Given the description of an element on the screen output the (x, y) to click on. 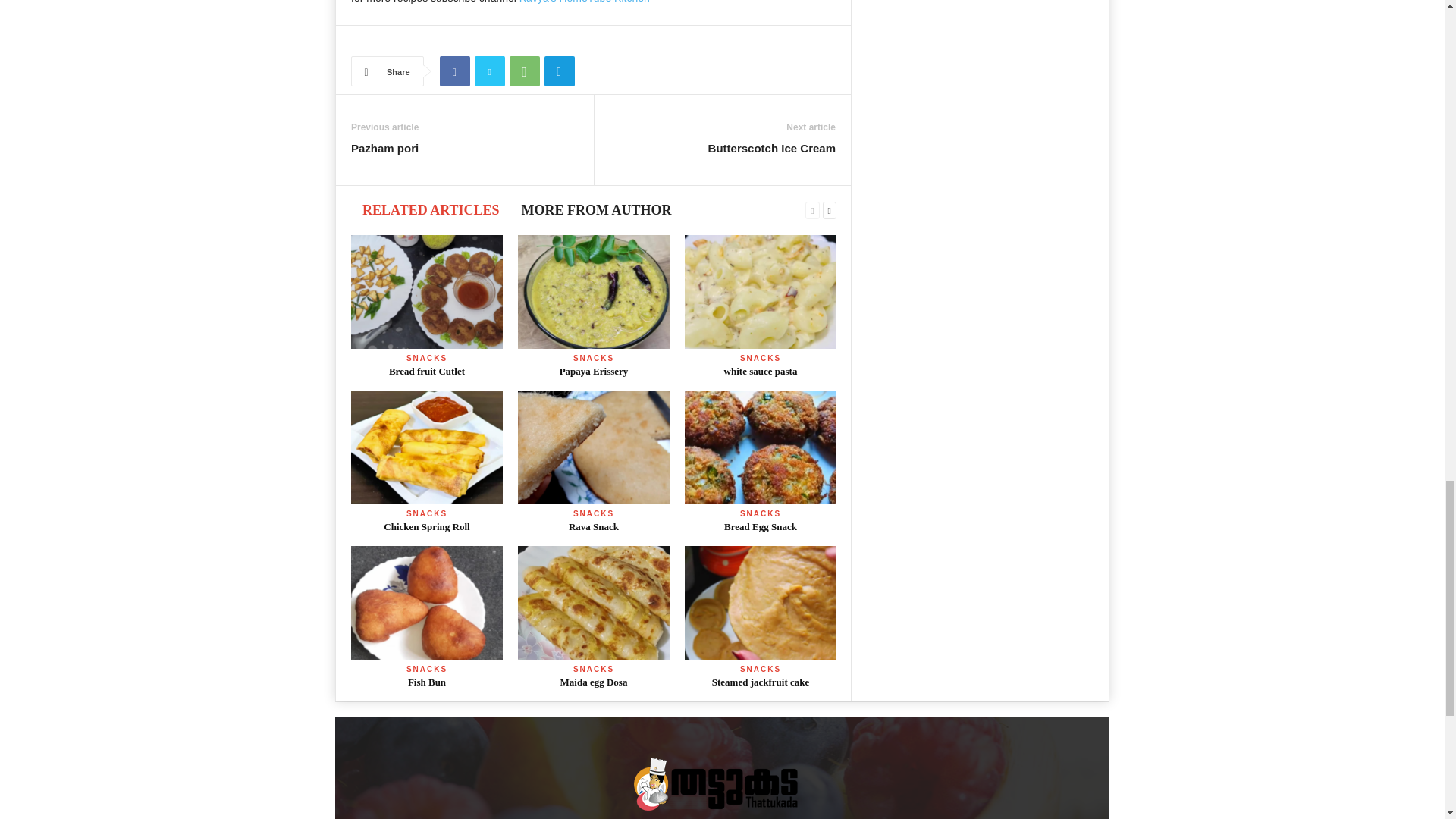
WhatsApp (524, 71)
Facebook (454, 71)
bottomFacebookLike (390, 41)
Twitter (489, 71)
Bread fruit Cutlet (426, 291)
Telegram (559, 71)
